Given the description of an element on the screen output the (x, y) to click on. 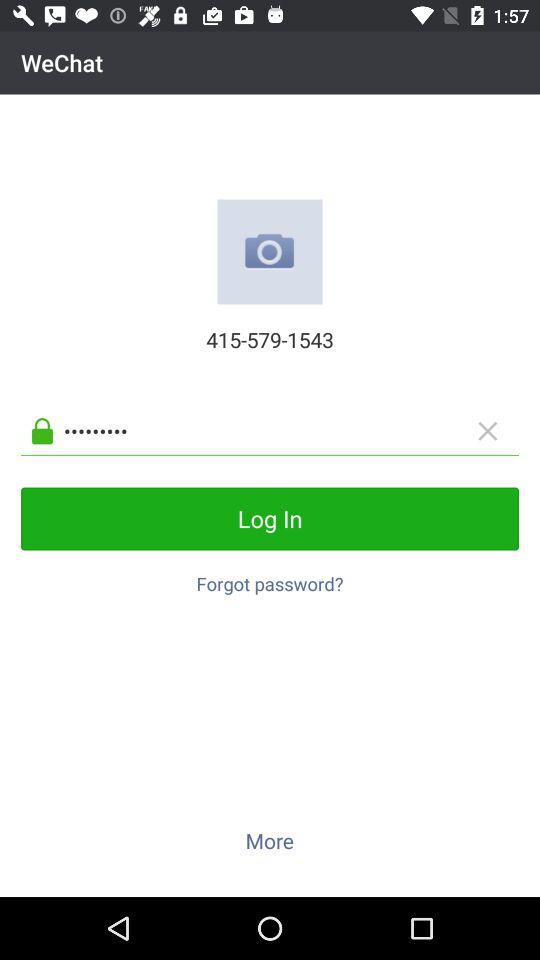
scroll until the crowd3116 (285, 430)
